Given the description of an element on the screen output the (x, y) to click on. 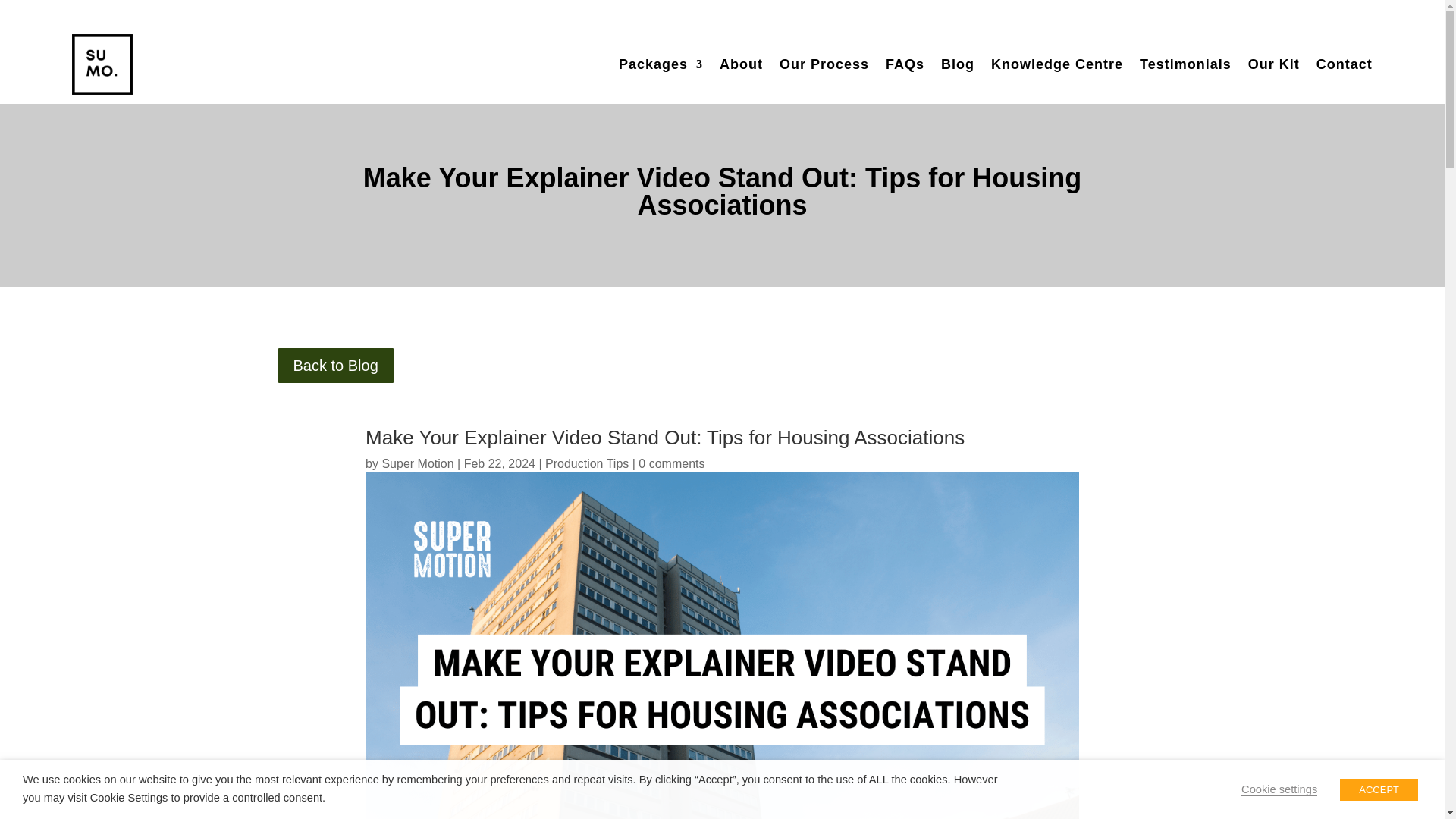
Our Process (823, 64)
Back to Blog (335, 365)
Production Tips (586, 463)
0 comments (671, 463)
ACCEPT (1378, 789)
Contact (1344, 64)
Super Motion (416, 463)
Posts by Super Motion (416, 463)
Cookie settings (1279, 789)
